Given the description of an element on the screen output the (x, y) to click on. 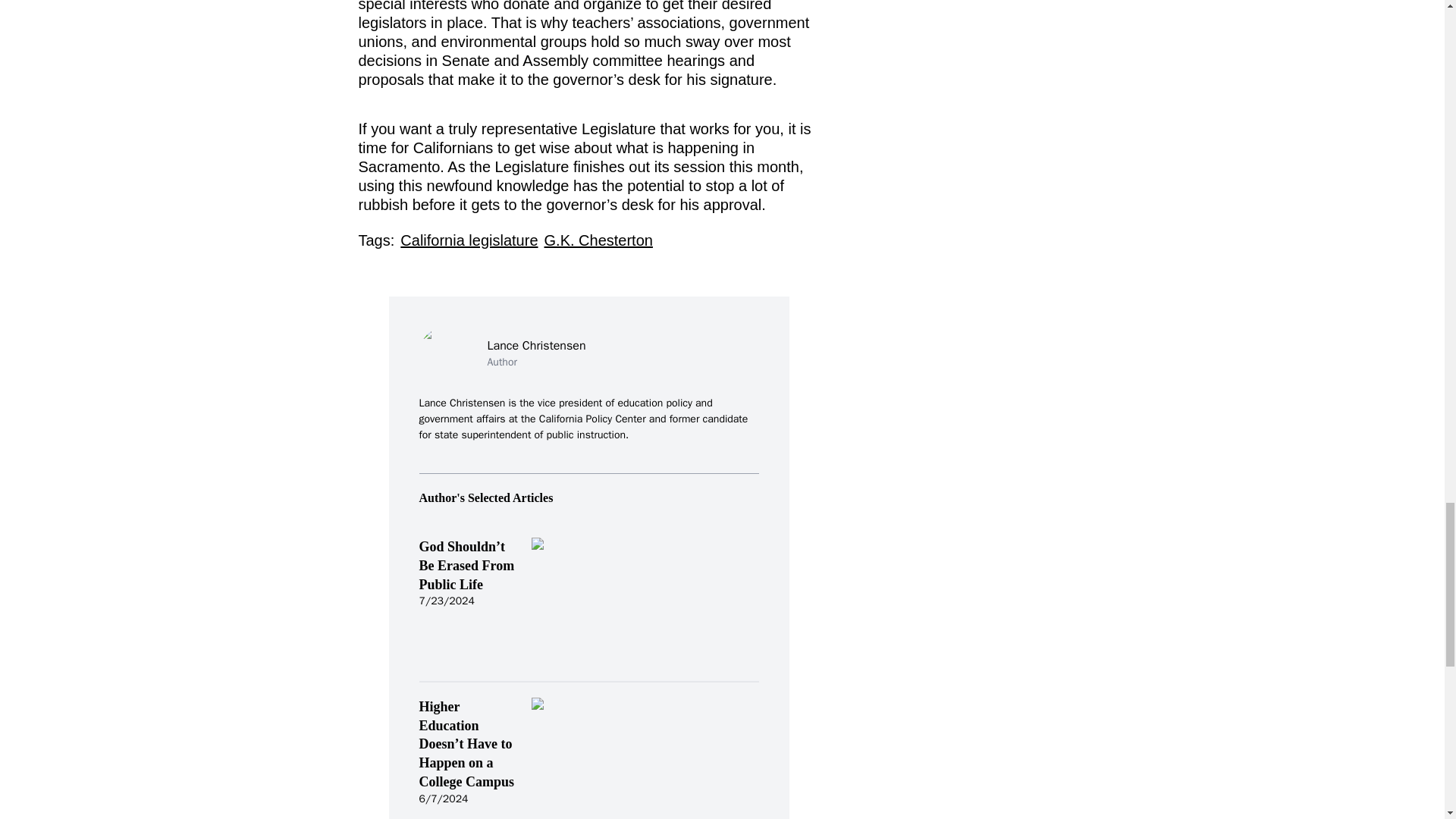
G.K. Chesterton (598, 240)
Lance Christensen (535, 345)
California legislature (468, 240)
